Given the description of an element on the screen output the (x, y) to click on. 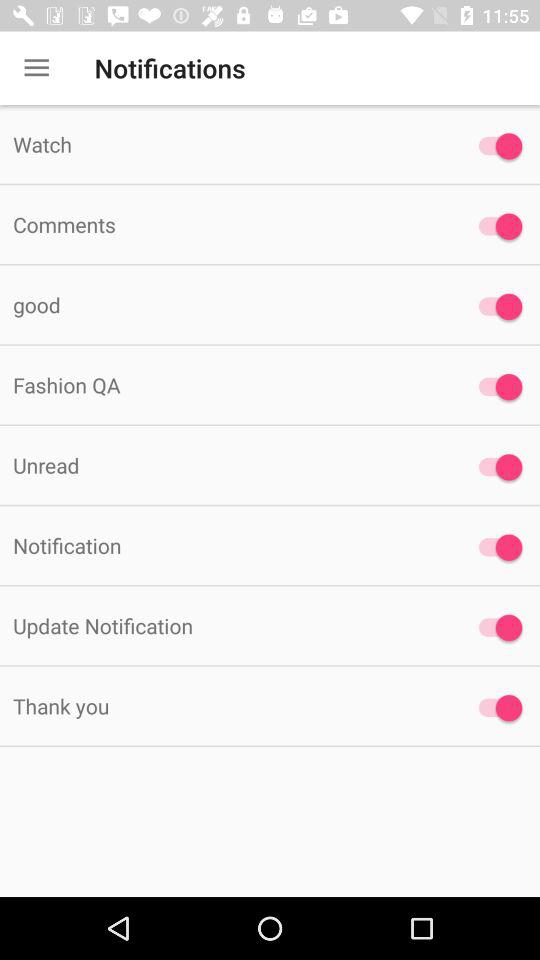
toggle update notification (495, 627)
